Given the description of an element on the screen output the (x, y) to click on. 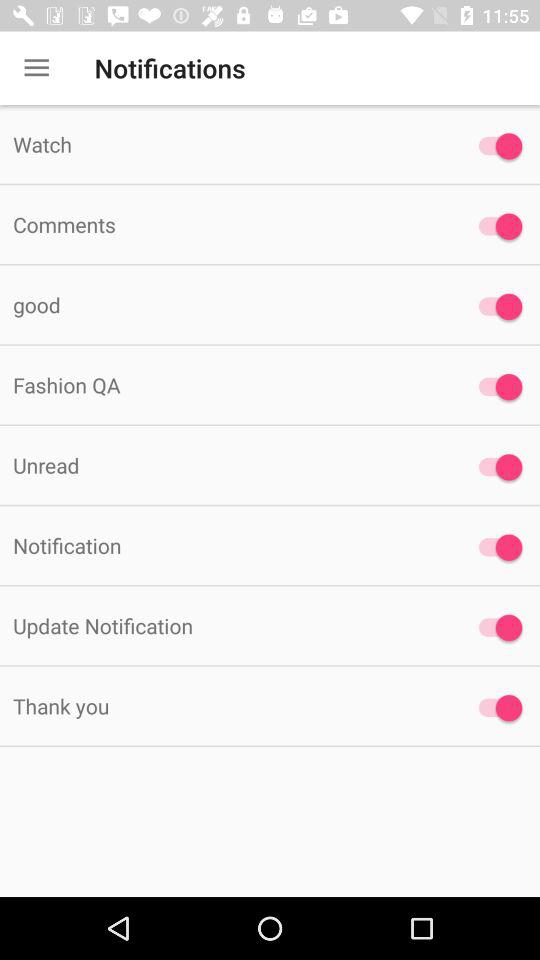
toggle update notification (495, 627)
